Given the description of an element on the screen output the (x, y) to click on. 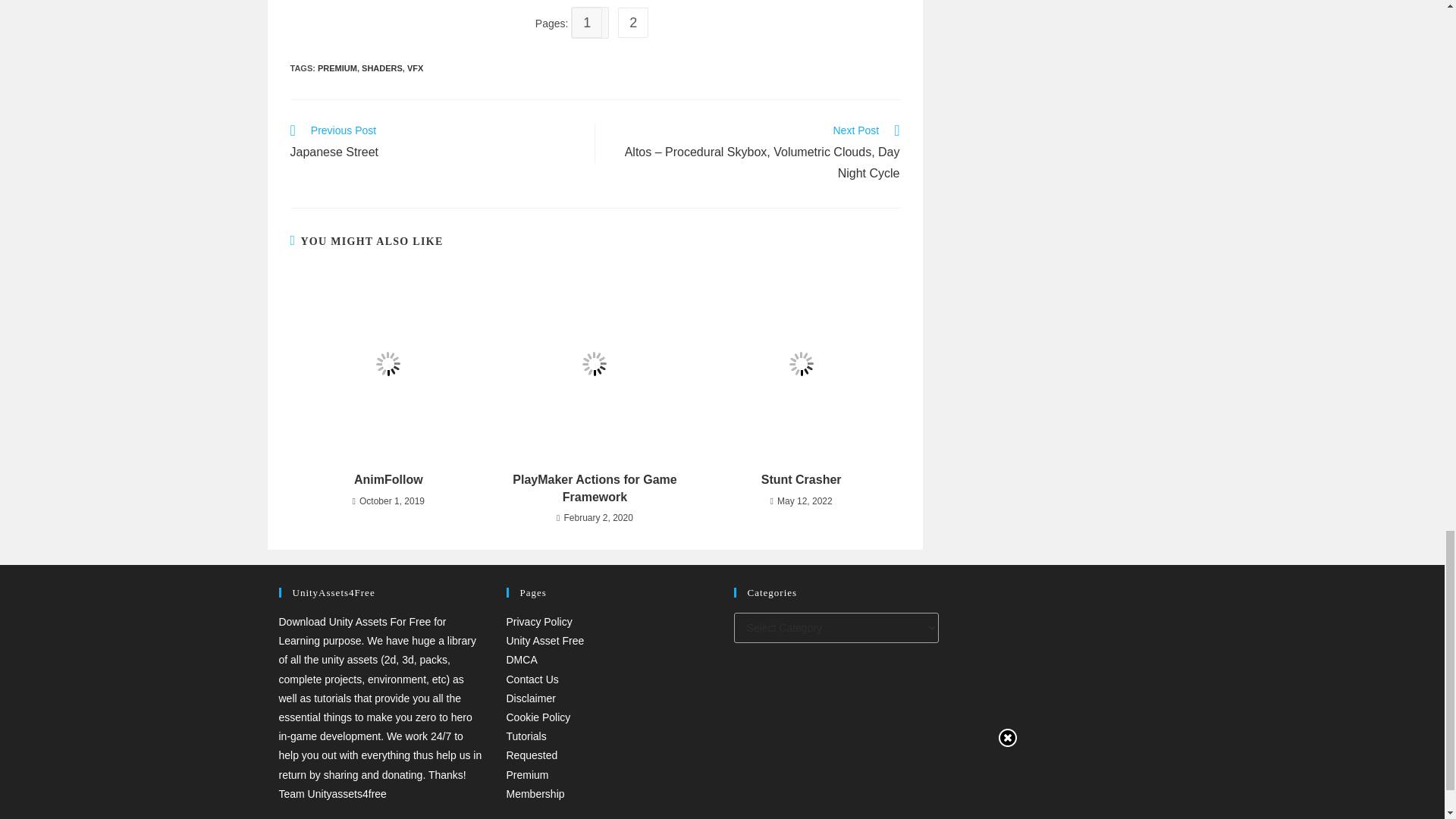
AnimFollow (387, 479)
SHADERS (382, 67)
VFX (415, 67)
Stunt Crasher (801, 479)
PlayMaker Actions for Game Framework (594, 488)
2 (635, 23)
PREMIUM (433, 142)
